Given the description of an element on the screen output the (x, y) to click on. 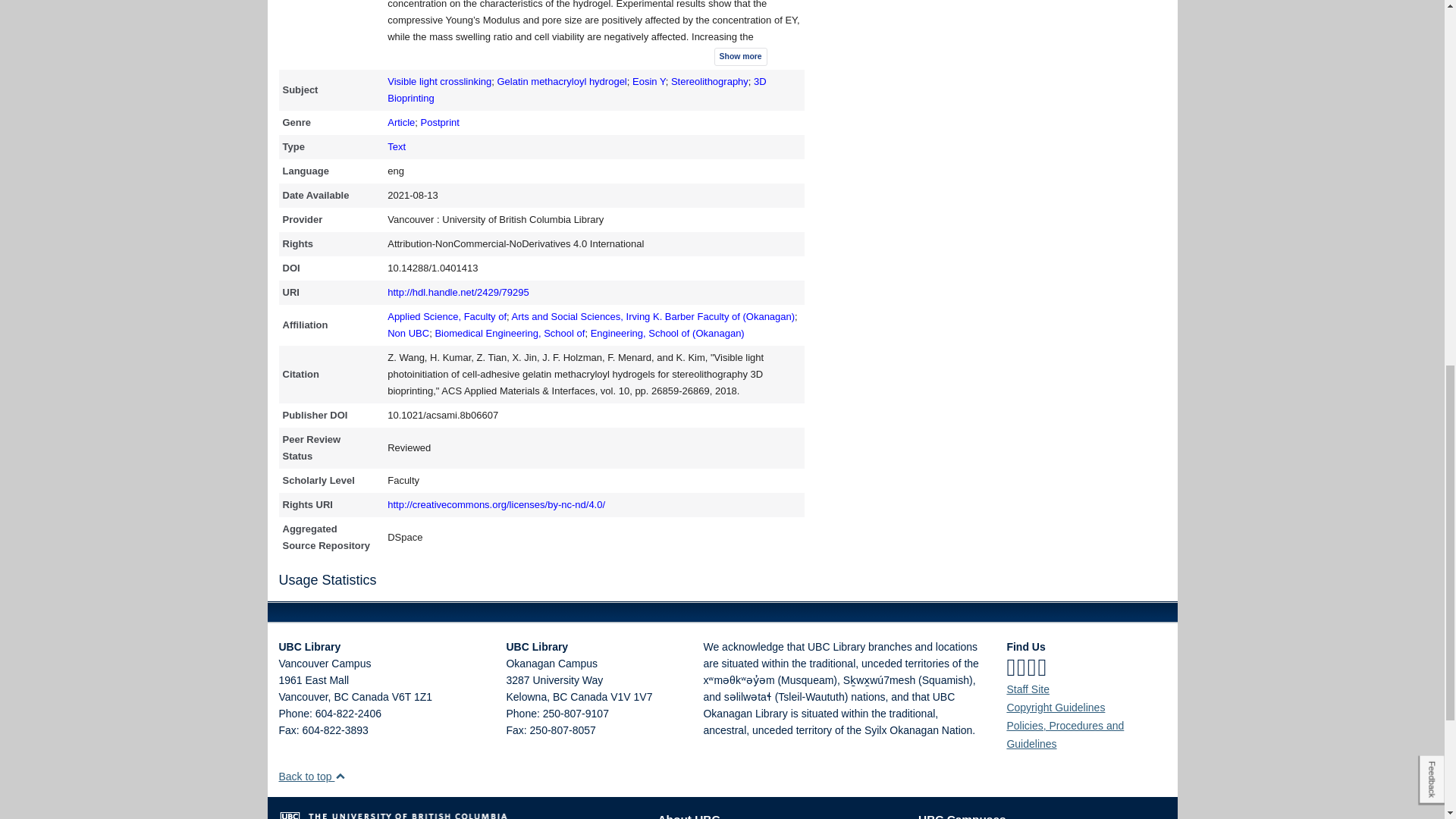
Youtube icon (1041, 667)
British Columbia (340, 696)
Instagram icon (1031, 667)
British Columbia (560, 696)
Twitter icon (1021, 667)
Facebook icon (1010, 667)
